Given the description of an element on the screen output the (x, y) to click on. 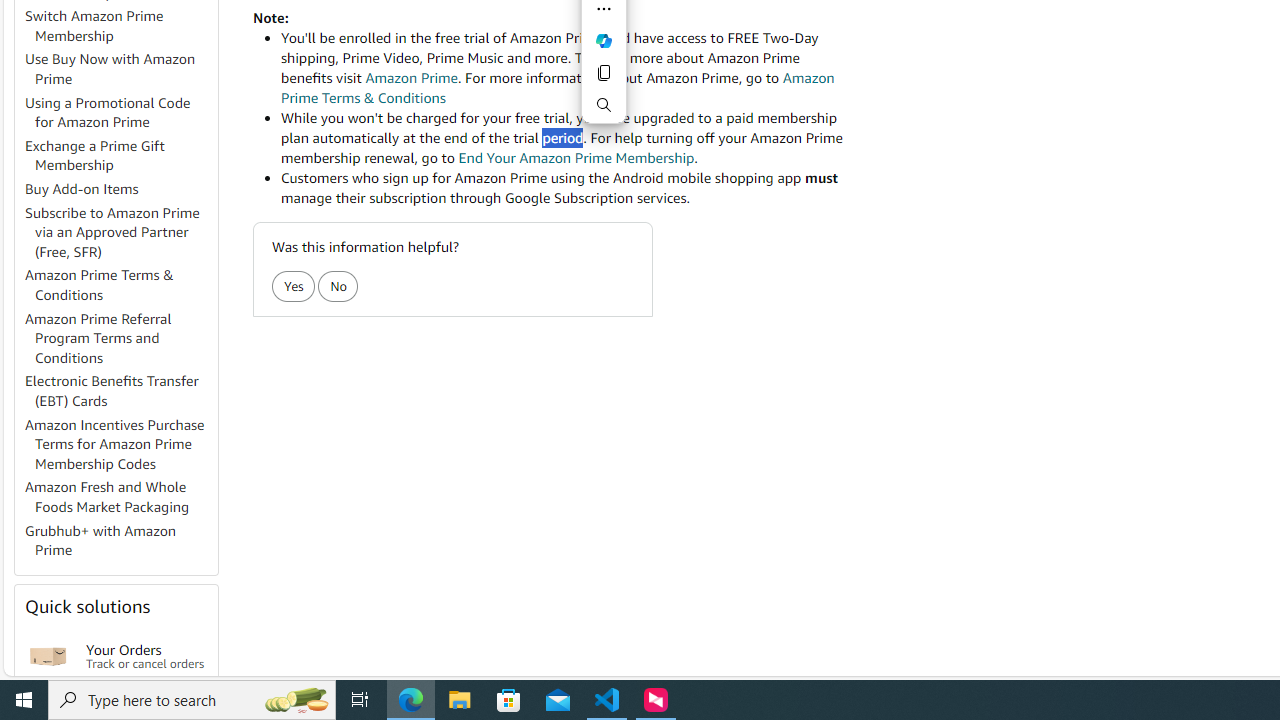
Exchange a Prime Gift Membership (95, 155)
Amazon Fresh and Whole Foods Market Packaging (107, 497)
Buy Add-on Items (82, 189)
Grubhub+ with Amazon Prime (120, 540)
Amazon Prime Terms & Conditions (99, 284)
